Given the description of an element on the screen output the (x, y) to click on. 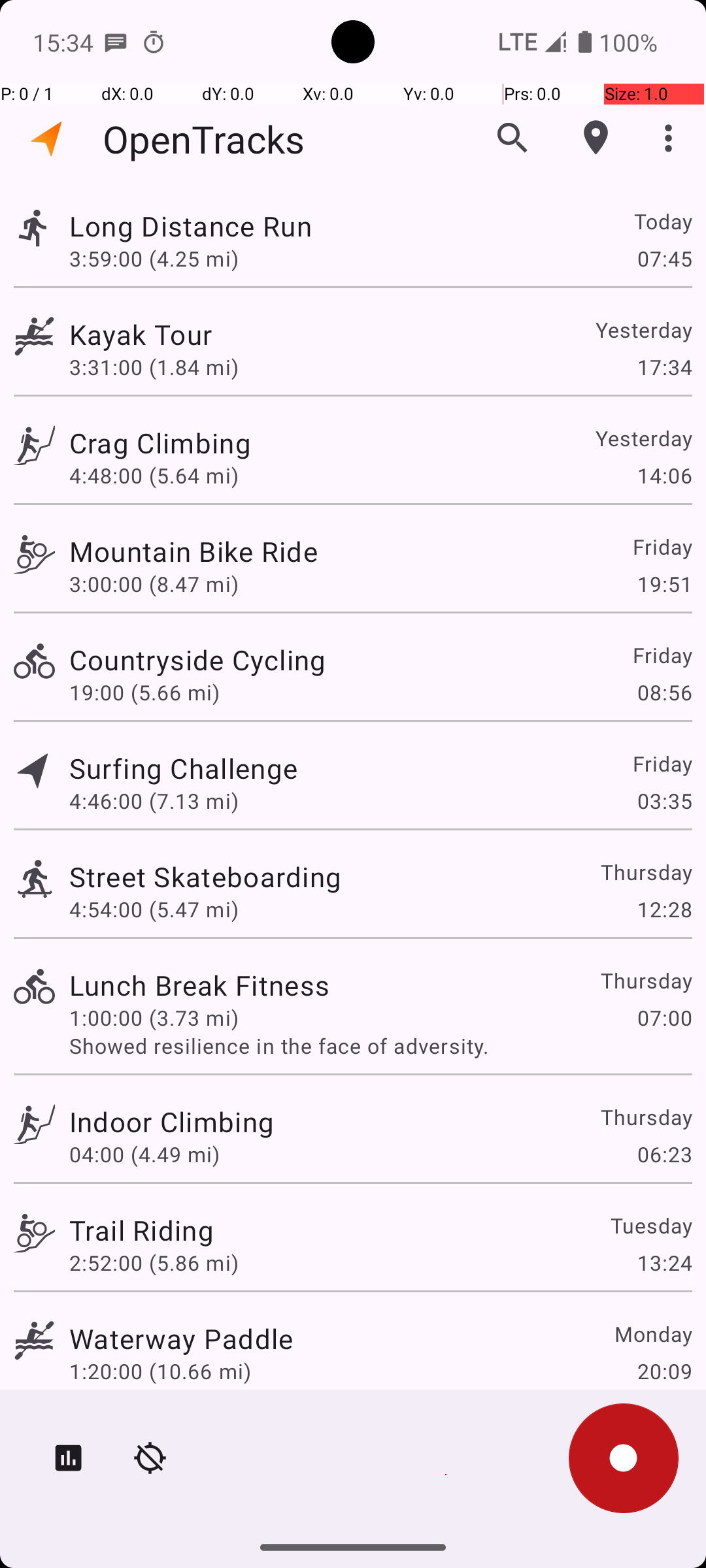
Long Distance Run Element type: android.widget.TextView (190, 225)
3:59:00 (4.25 mi) Element type: android.widget.TextView (153, 258)
07:45 Element type: android.widget.TextView (664, 258)
Kayak Tour Element type: android.widget.TextView (140, 333)
3:31:00 (1.84 mi) Element type: android.widget.TextView (153, 366)
17:34 Element type: android.widget.TextView (664, 366)
Crag Climbing Element type: android.widget.TextView (159, 442)
4:48:00 (5.64 mi) Element type: android.widget.TextView (153, 475)
14:06 Element type: android.widget.TextView (664, 475)
Mountain Bike Ride Element type: android.widget.TextView (193, 550)
3:00:00 (8.47 mi) Element type: android.widget.TextView (153, 583)
19:51 Element type: android.widget.TextView (664, 583)
Countryside Cycling Element type: android.widget.TextView (197, 659)
19:00 (5.66 mi) Element type: android.widget.TextView (144, 692)
08:56 Element type: android.widget.TextView (664, 692)
Surfing Challenge Element type: android.widget.TextView (183, 767)
4:46:00 (7.13 mi) Element type: android.widget.TextView (153, 800)
03:35 Element type: android.widget.TextView (664, 800)
Street Skateboarding Element type: android.widget.TextView (204, 876)
4:54:00 (5.47 mi) Element type: android.widget.TextView (153, 909)
12:28 Element type: android.widget.TextView (664, 909)
Lunch Break Fitness Element type: android.widget.TextView (199, 984)
1:00:00 (3.73 mi) Element type: android.widget.TextView (153, 1017)
Showed resilience in the face of adversity. Element type: android.widget.TextView (380, 1045)
Indoor Climbing Element type: android.widget.TextView (171, 1121)
04:00 (4.49 mi) Element type: android.widget.TextView (144, 1154)
06:23 Element type: android.widget.TextView (664, 1154)
Trail Riding Element type: android.widget.TextView (141, 1229)
2:52:00 (5.86 mi) Element type: android.widget.TextView (153, 1262)
13:24 Element type: android.widget.TextView (664, 1262)
Waterway Paddle Element type: android.widget.TextView (180, 1337)
1:20:00 (10.66 mi) Element type: android.widget.TextView (159, 1370)
20:09 Element type: android.widget.TextView (664, 1370)
